Given the description of an element on the screen output the (x, y) to click on. 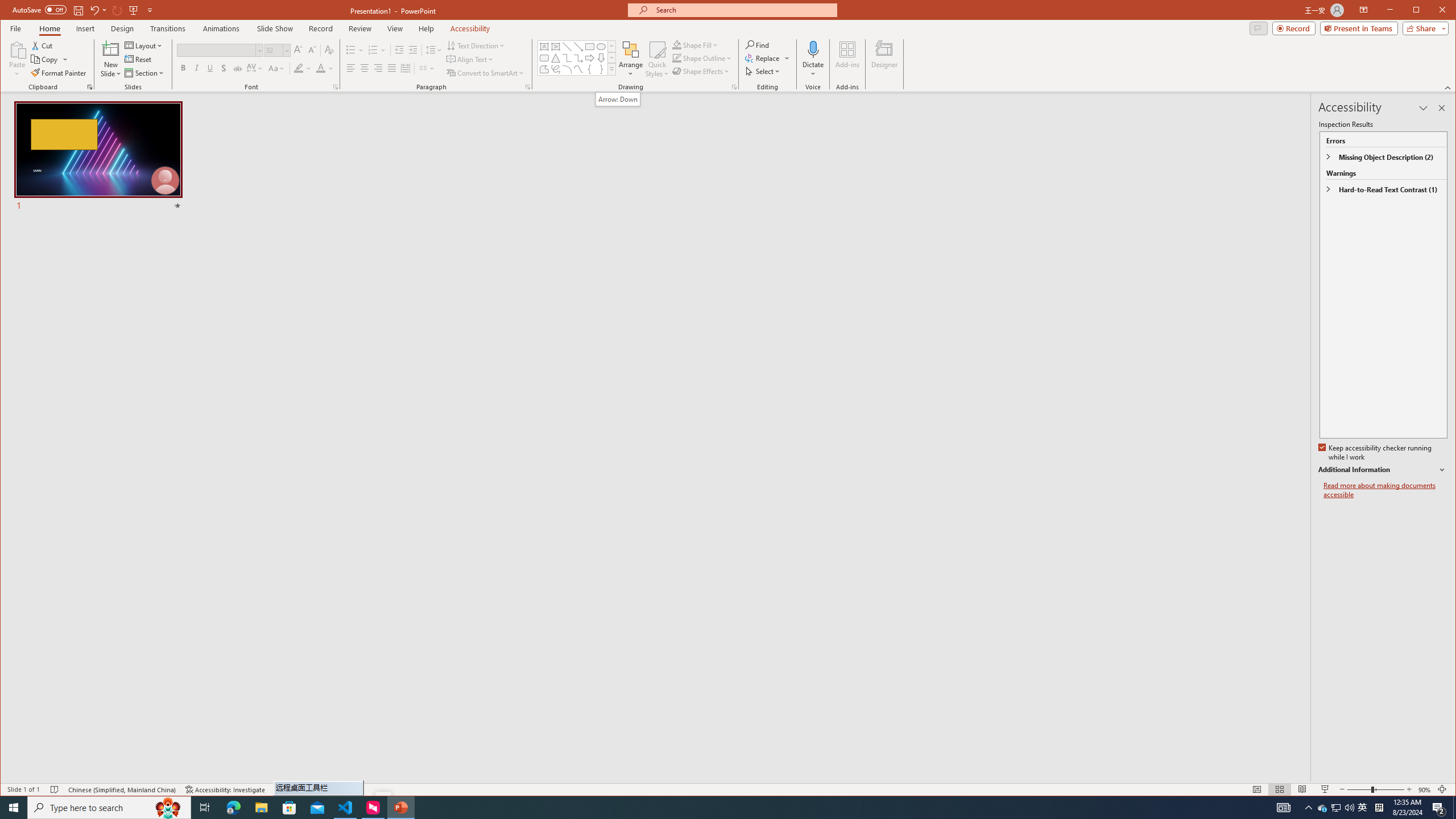
Oval (601, 46)
Align Left (350, 68)
Decrease Font Size (311, 49)
